Given the description of an element on the screen output the (x, y) to click on. 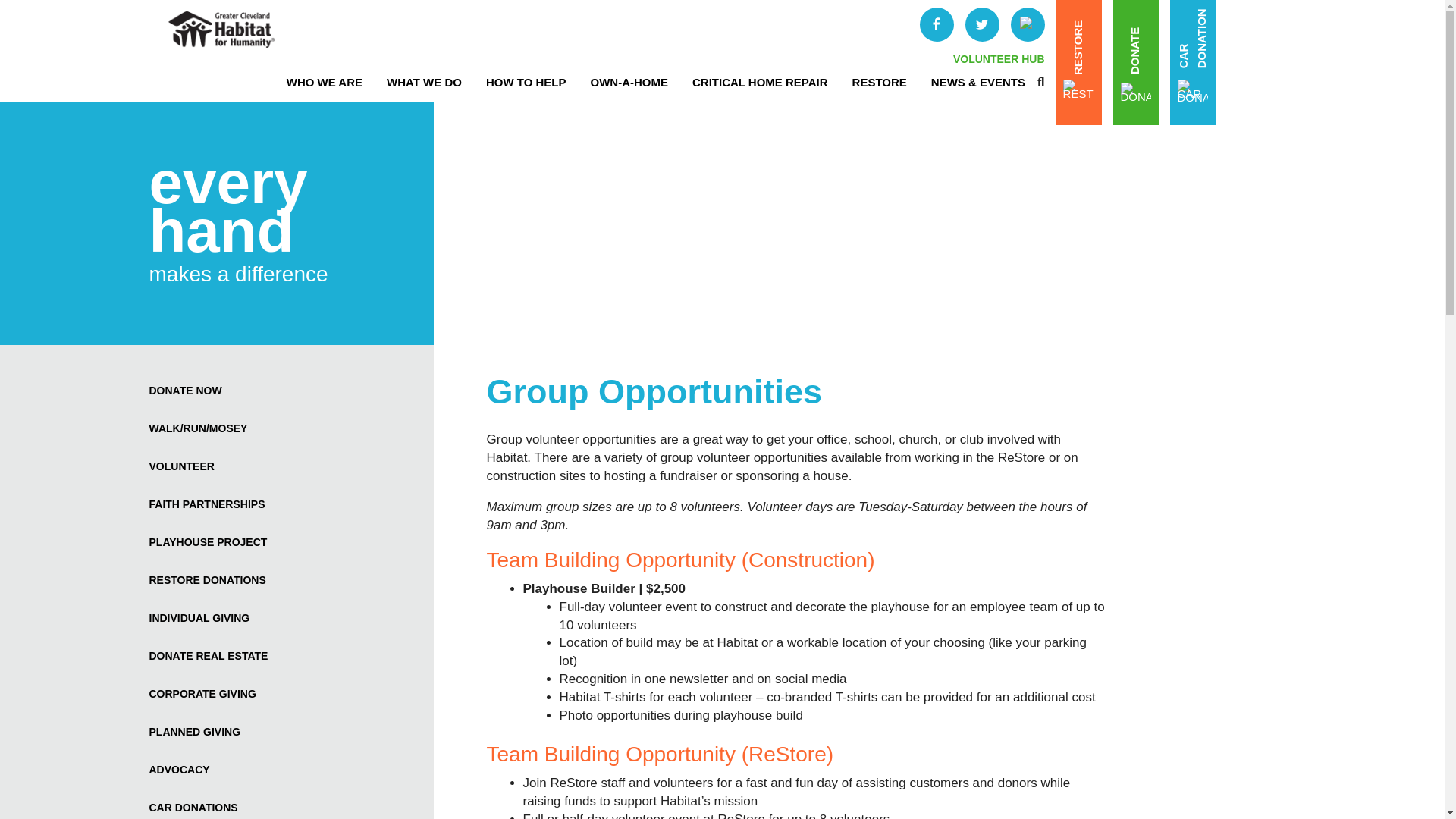
WHO WE ARE (324, 81)
HOW TO HELP (526, 81)
VOLUNTEER HUB (999, 59)
WHAT WE DO (424, 81)
OWN-A-HOME (628, 81)
